Given the description of an element on the screen output the (x, y) to click on. 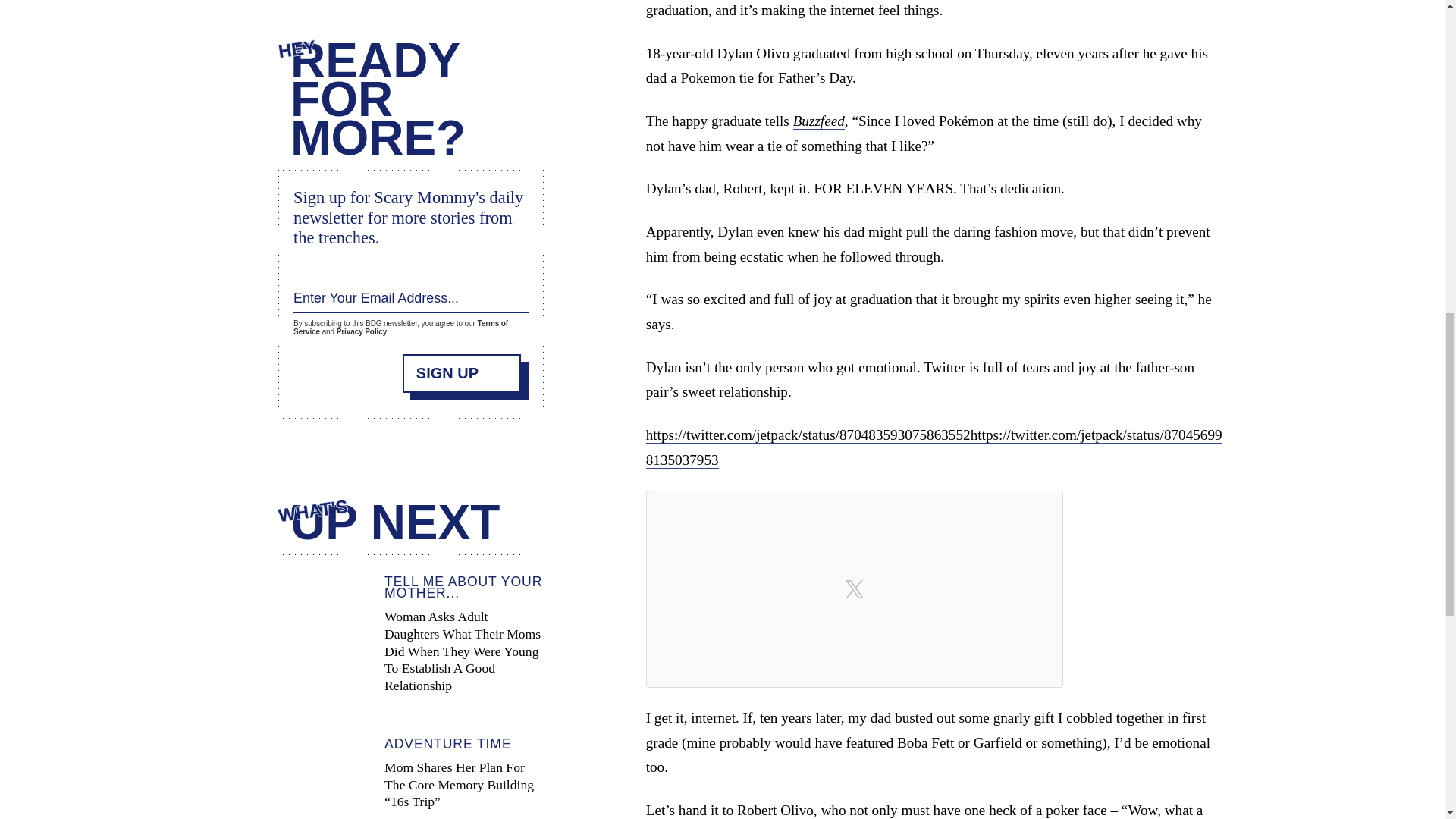
SIGN UP (462, 371)
Terms of Service (401, 327)
Buzzfeed (818, 121)
Privacy Policy (361, 331)
